Given the description of an element on the screen output the (x, y) to click on. 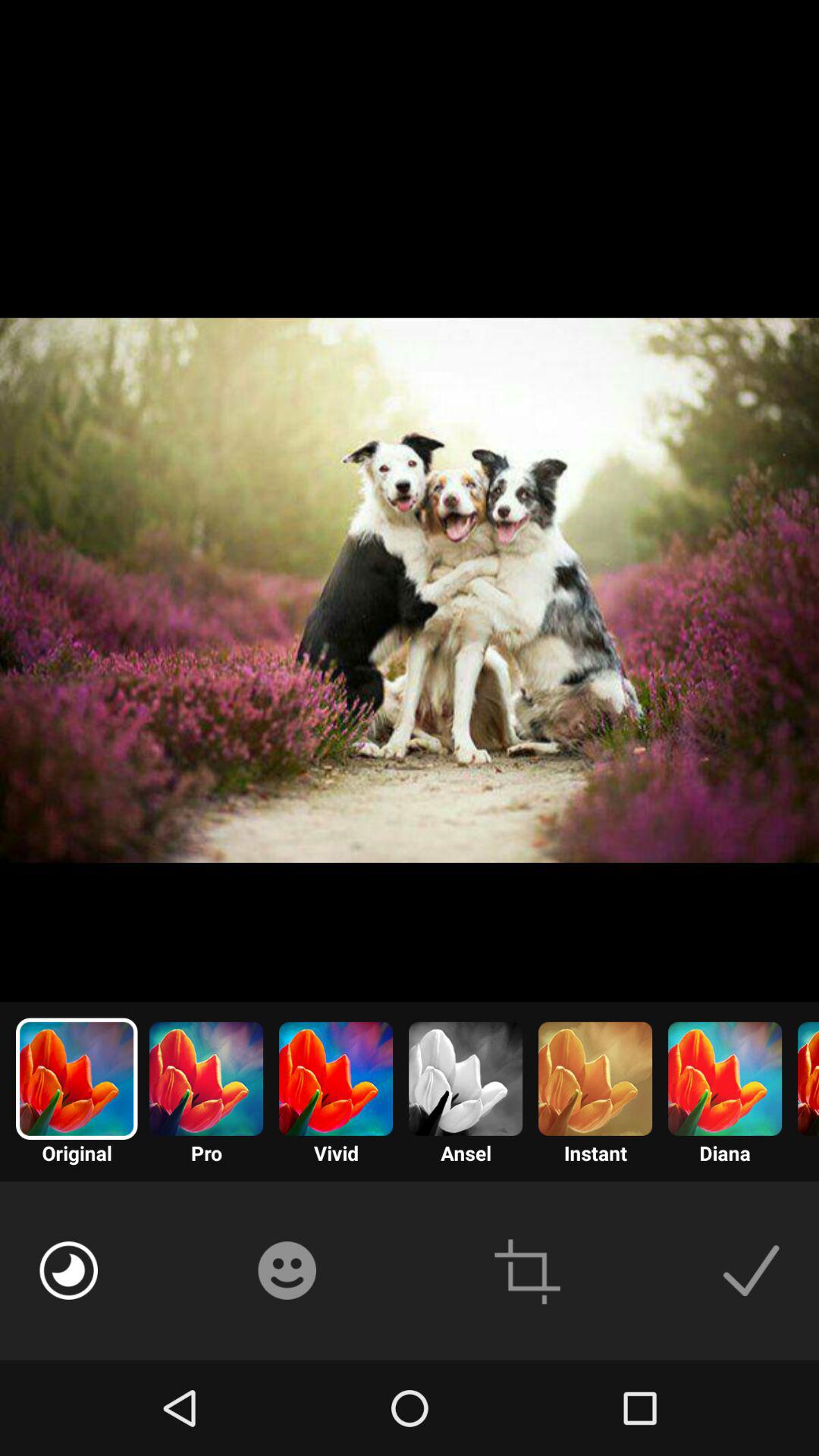
add emoji (287, 1270)
